Given the description of an element on the screen output the (x, y) to click on. 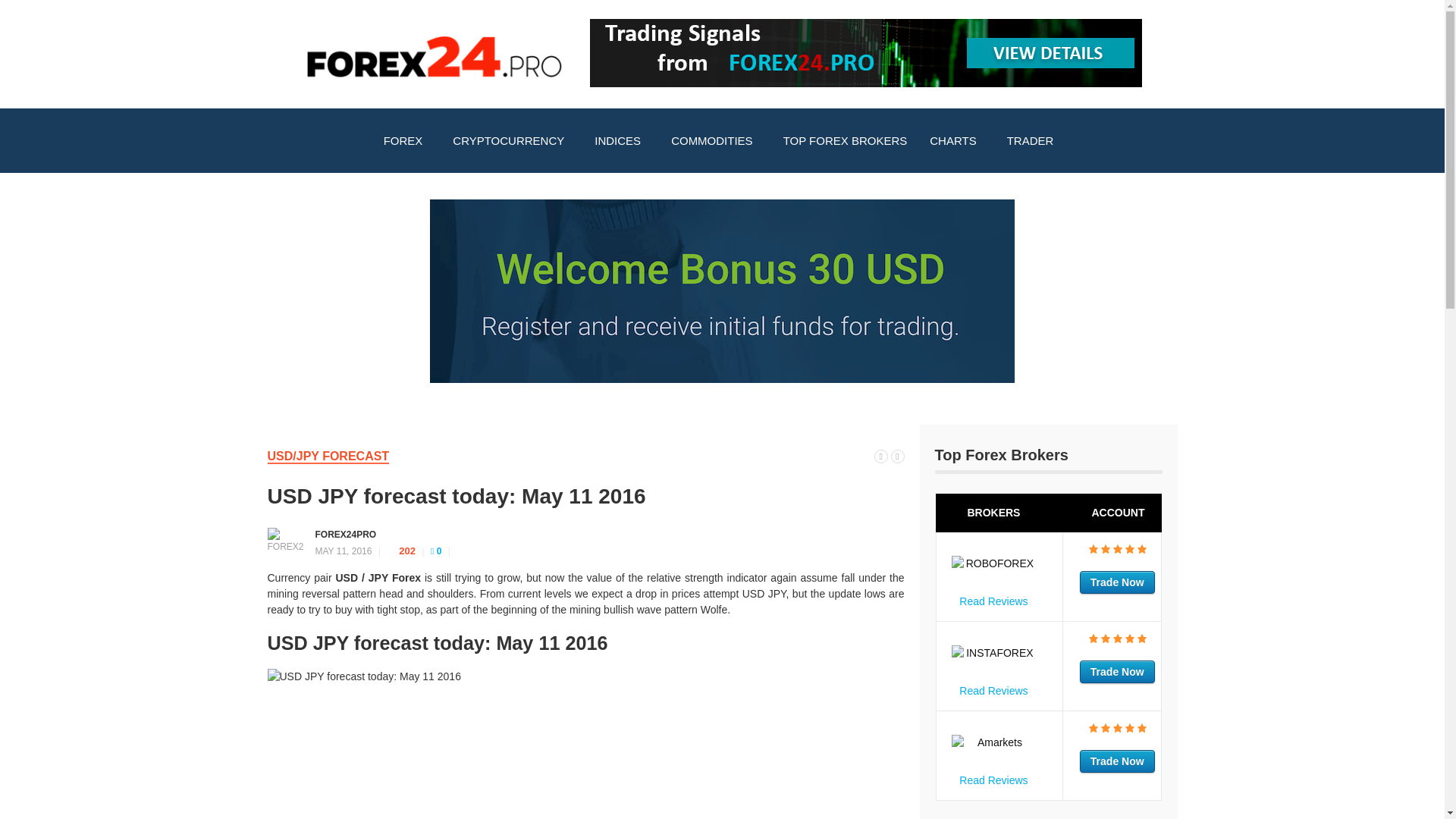
FOREX (407, 140)
COMMODITIES (715, 140)
CRYPTOCURRENCY (512, 140)
Previous Post (881, 455)
TOP FOREX BROKERS (844, 140)
Next Post (896, 455)
CHARTS (956, 140)
INDICES (621, 140)
